Given the description of an element on the screen output the (x, y) to click on. 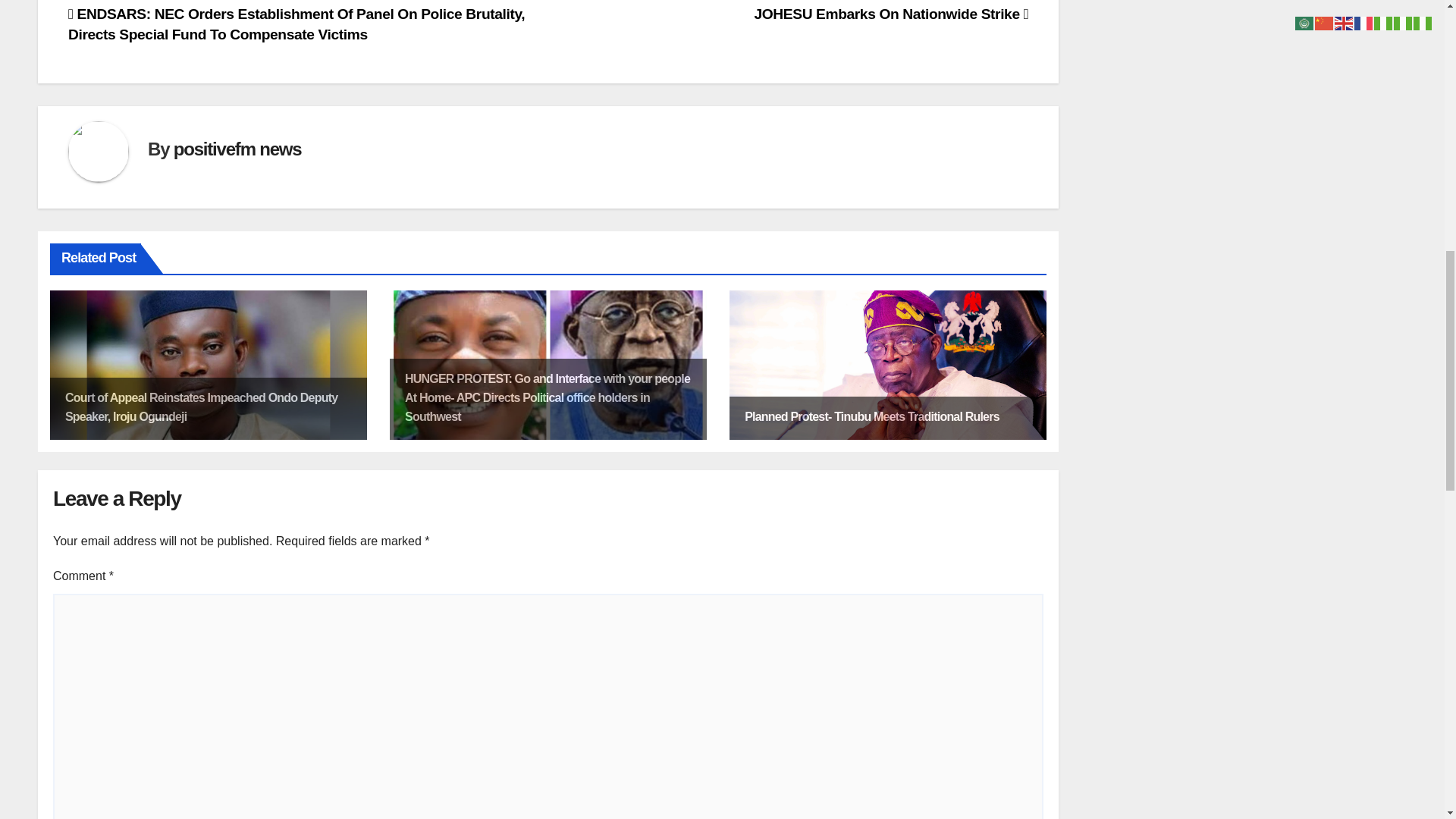
positivefm news (237, 148)
JOHESU Embarks On Nationwide Strike (891, 13)
